Given the description of an element on the screen output the (x, y) to click on. 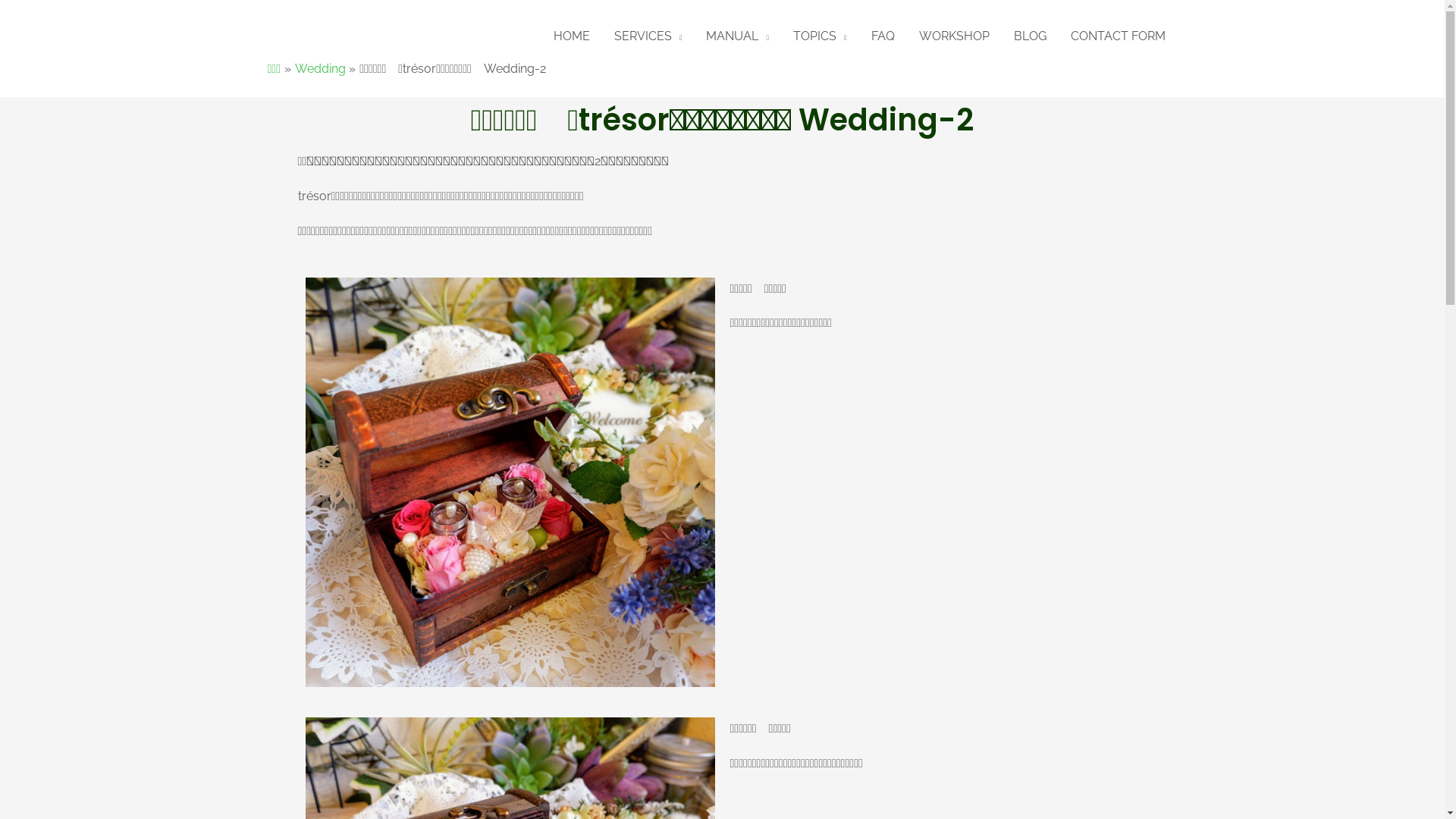
FAQ Element type: text (882, 36)
HOME Element type: text (571, 36)
BLOG Element type: text (1029, 36)
450389BA-E19E-4015-AFD3-2B356D4A04C2-14185-000004E5804B06A5 Element type: hover (509, 482)
Wedding Element type: text (319, 68)
TOPICS Element type: text (820, 36)
MANUAL Element type: text (737, 36)
CONTACT FORM Element type: text (1117, 36)
SERVICES Element type: text (648, 36)
WORKSHOP Element type: text (953, 36)
